Given the description of an element on the screen output the (x, y) to click on. 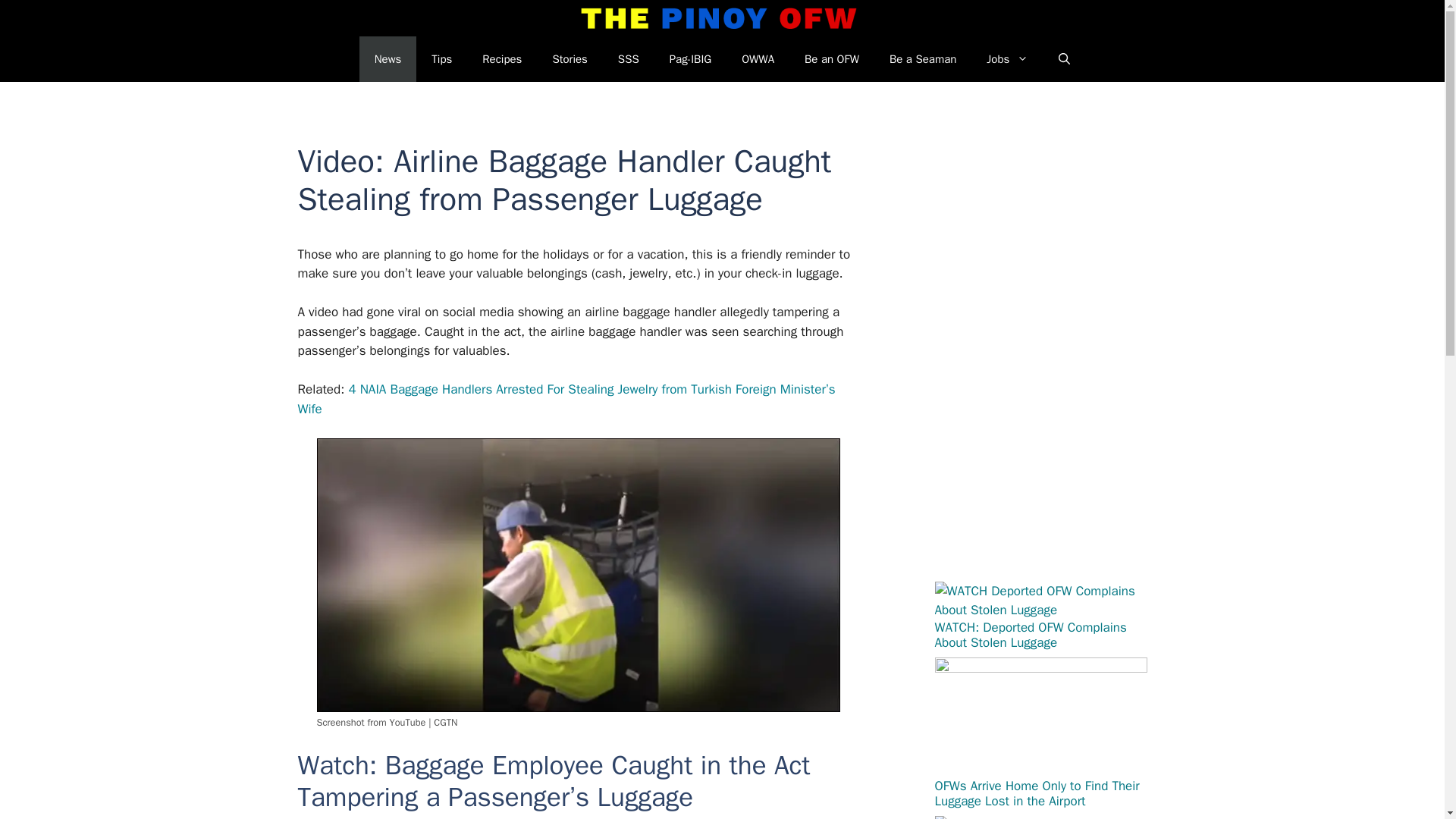
SSS (627, 58)
News (387, 58)
Be an OFW (832, 58)
The Pinoy OFW (718, 18)
Stories (569, 58)
Jobs (1007, 58)
Tips (441, 58)
Recipes (502, 58)
OWWA (757, 58)
Be a Seaman (923, 58)
